Given the description of an element on the screen output the (x, y) to click on. 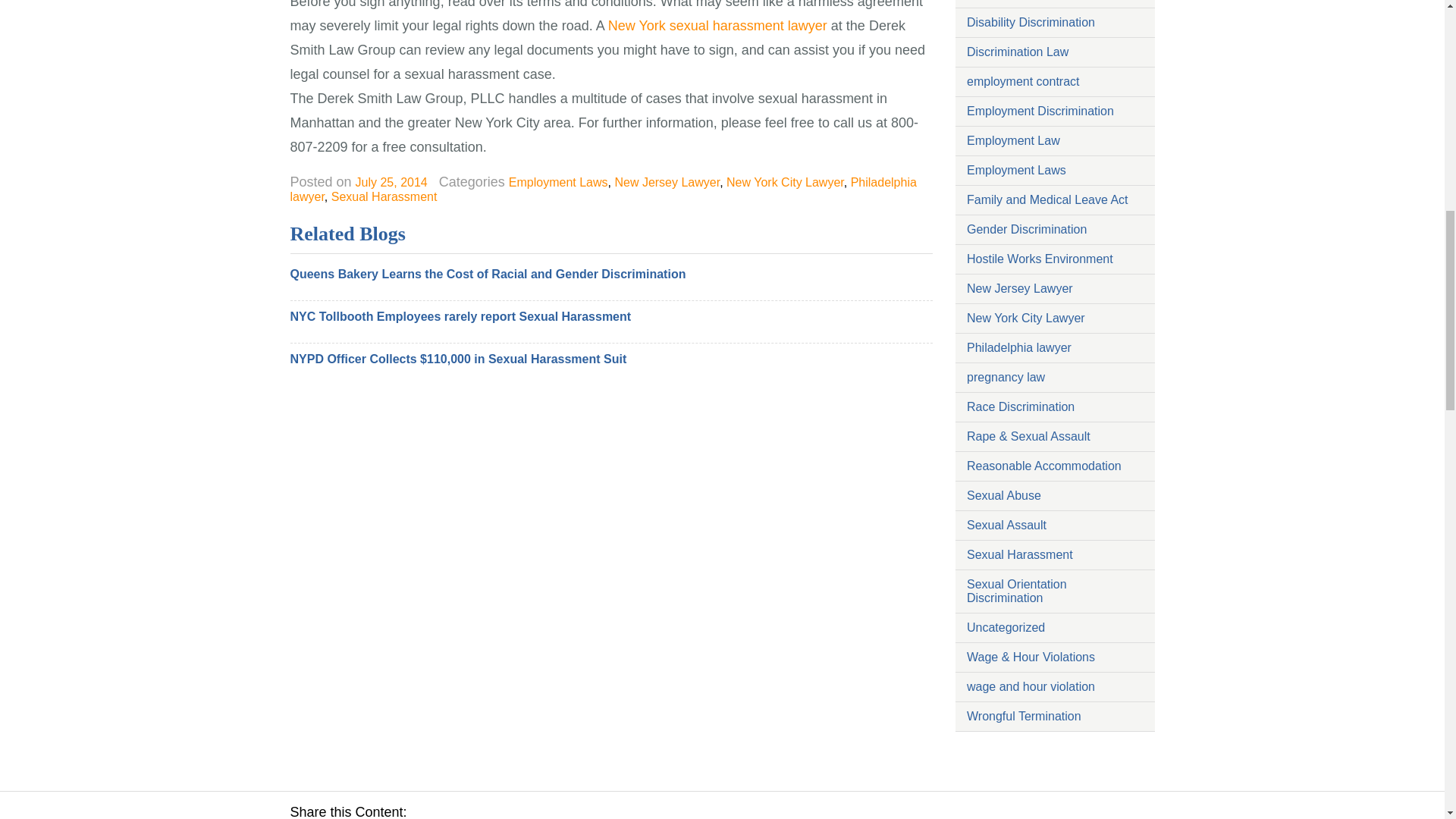
Share via email (577, 810)
Share via facebook (436, 810)
Copy URL (613, 810)
Share via twitter (471, 810)
Share via linkedin (508, 810)
Share via Instagram (542, 810)
E-Mail Share (577, 810)
linkedin (508, 810)
